Given the description of an element on the screen output the (x, y) to click on. 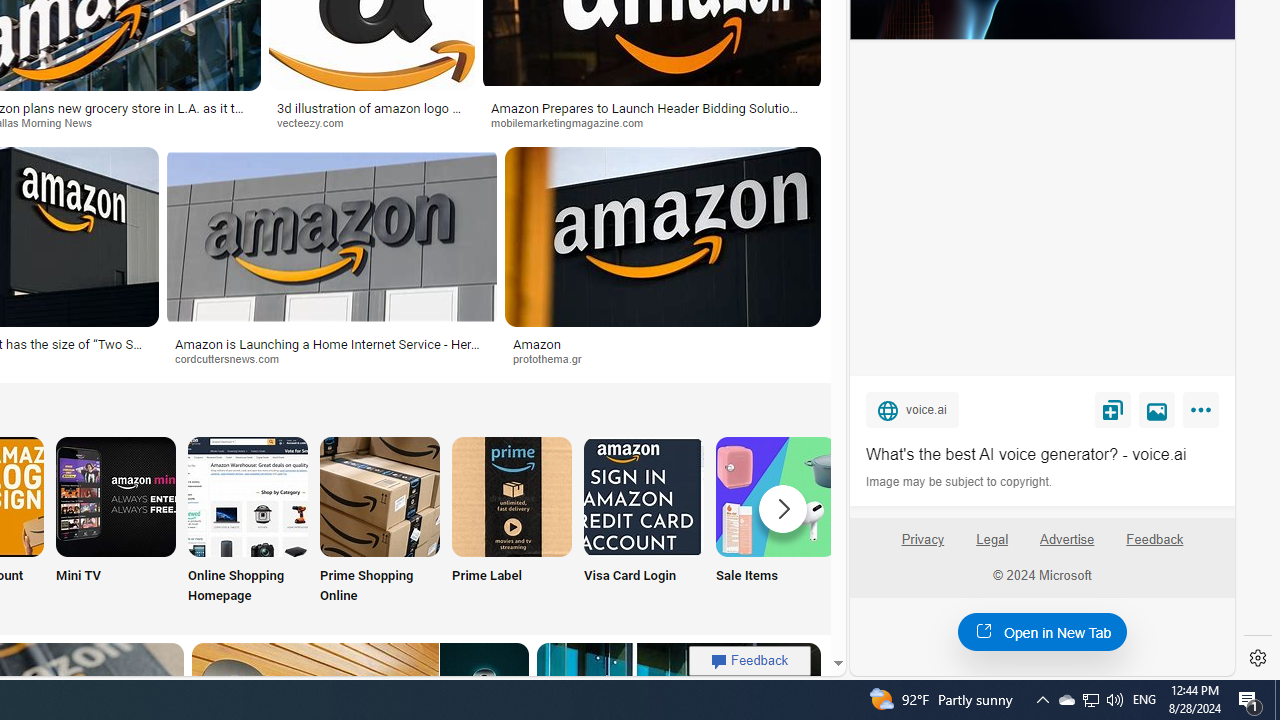
Amazon Mini TV Mini TV (116, 521)
Advertise (1066, 539)
mobilemarketingmagazine.com (651, 123)
Mini TV (116, 521)
Prime Label (511, 521)
Amazon Prime Label Prime Label (511, 521)
Amazonprotothema.grSave (662, 260)
Sale Items (775, 521)
Feedback (1155, 539)
Image result for amazon (662, 236)
More (1204, 413)
